Given the description of an element on the screen output the (x, y) to click on. 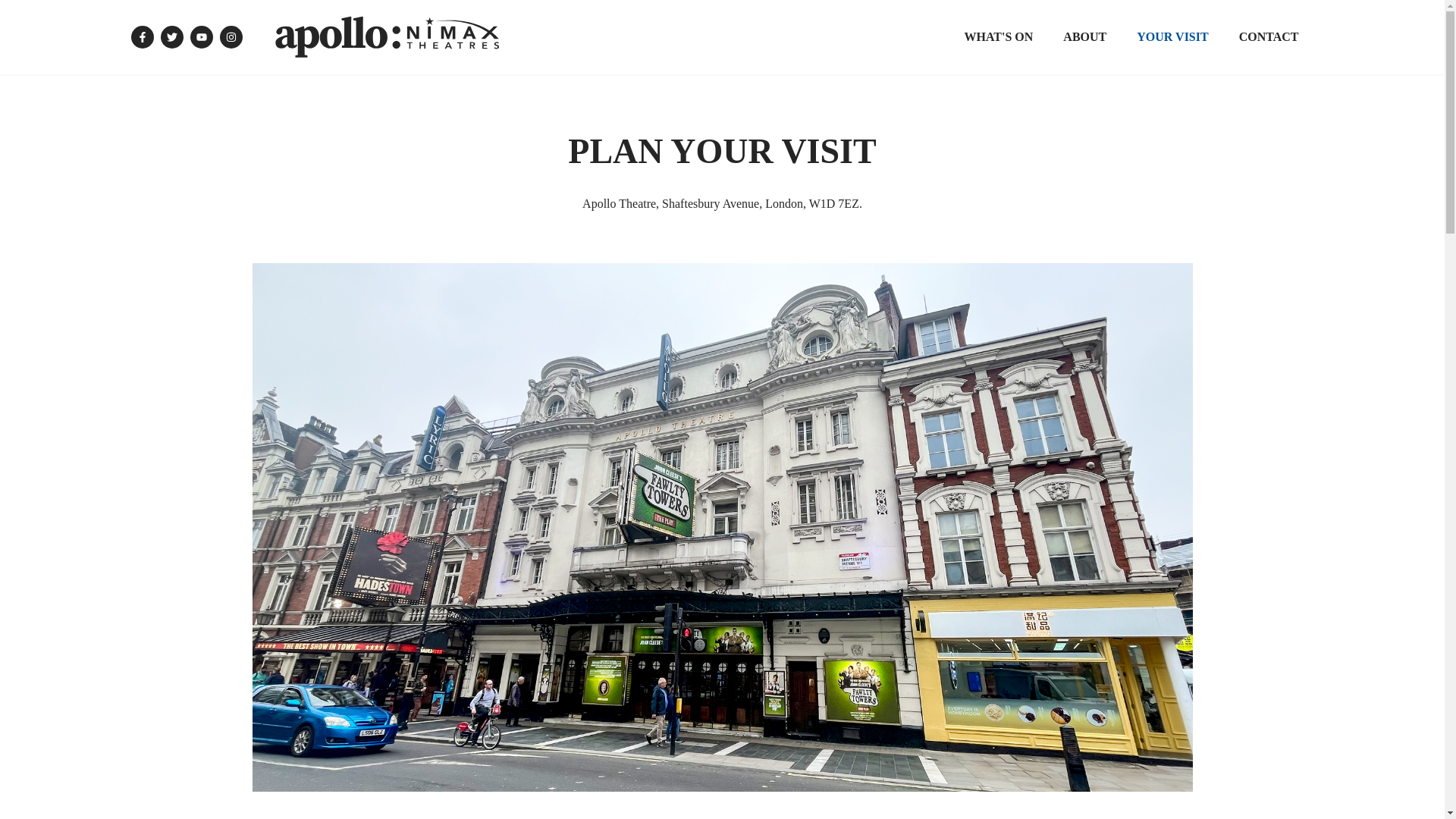
ABOUT (1084, 36)
CONTACT (1269, 36)
YOUR VISIT (1172, 36)
WHAT'S ON (998, 36)
